Given the description of an element on the screen output the (x, y) to click on. 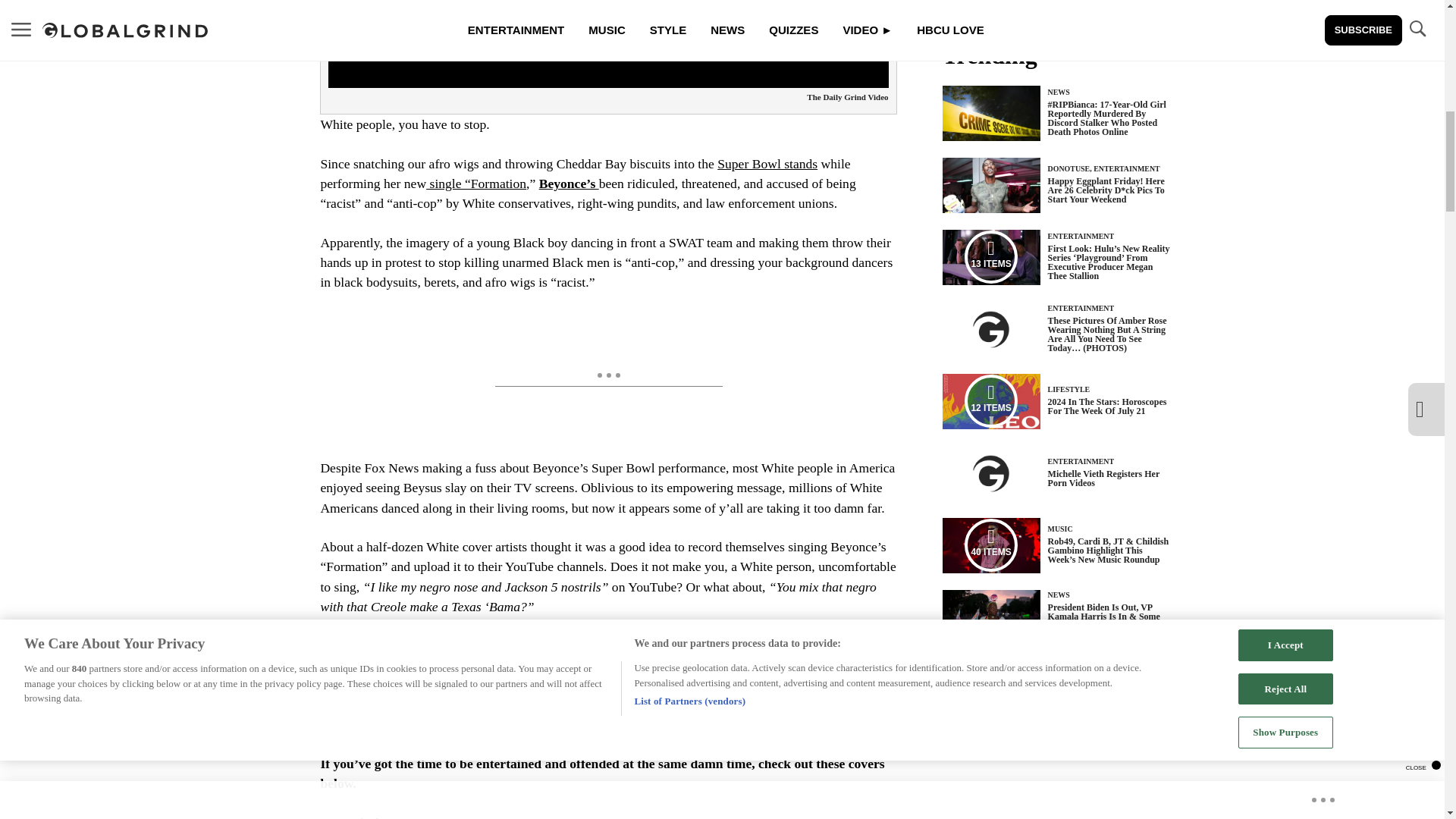
Media Playlist (990, 400)
Super Bowl stands (766, 163)
Media Playlist (990, 256)
Media Playlist (990, 544)
